Given the description of an element on the screen output the (x, y) to click on. 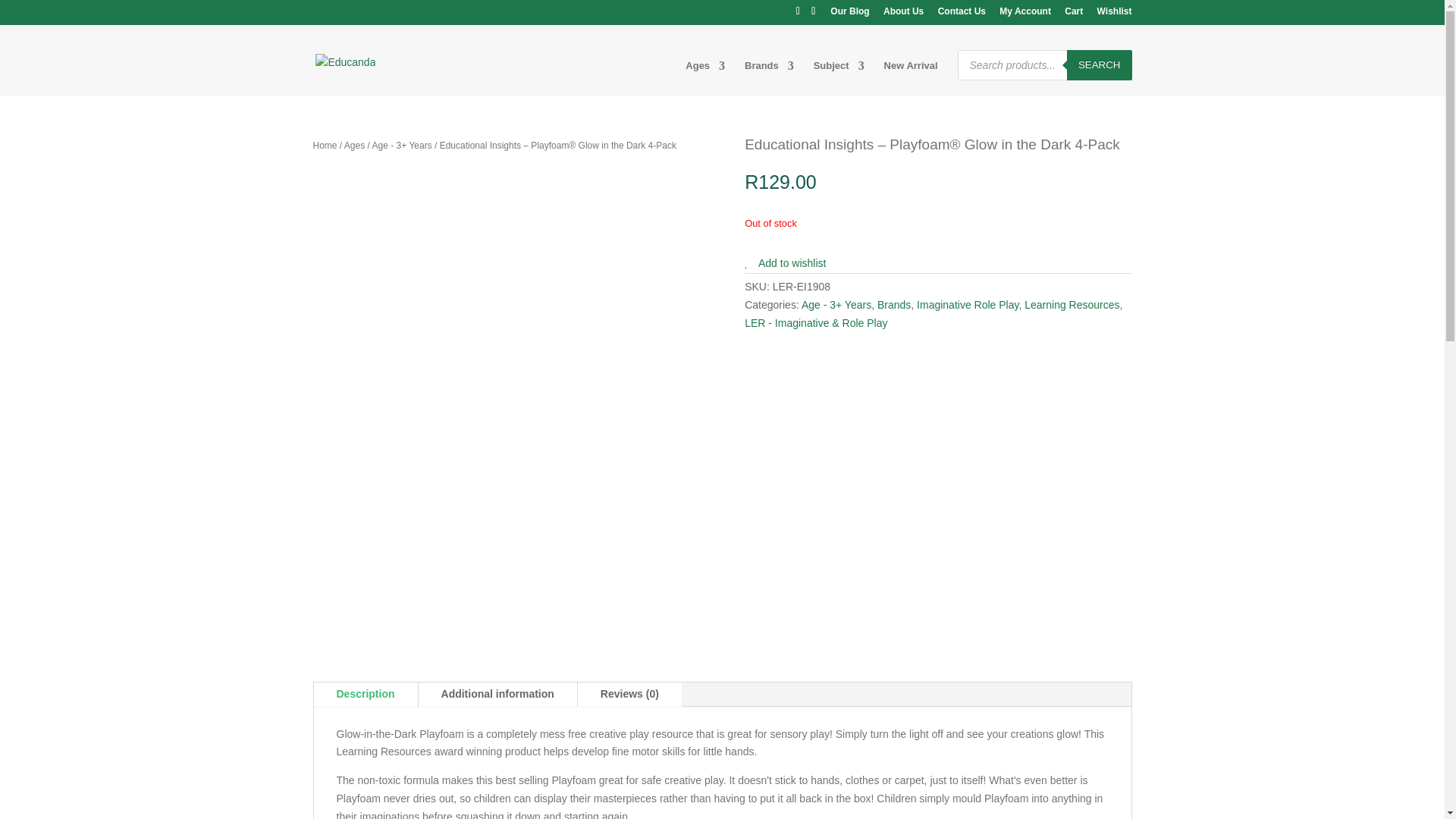
Wishlist (1114, 14)
About Us (903, 14)
Our Blog (849, 14)
Contact Us (961, 14)
Brands (768, 78)
Cart (1073, 14)
My Account (1024, 14)
Ages (705, 78)
